Given the description of an element on the screen output the (x, y) to click on. 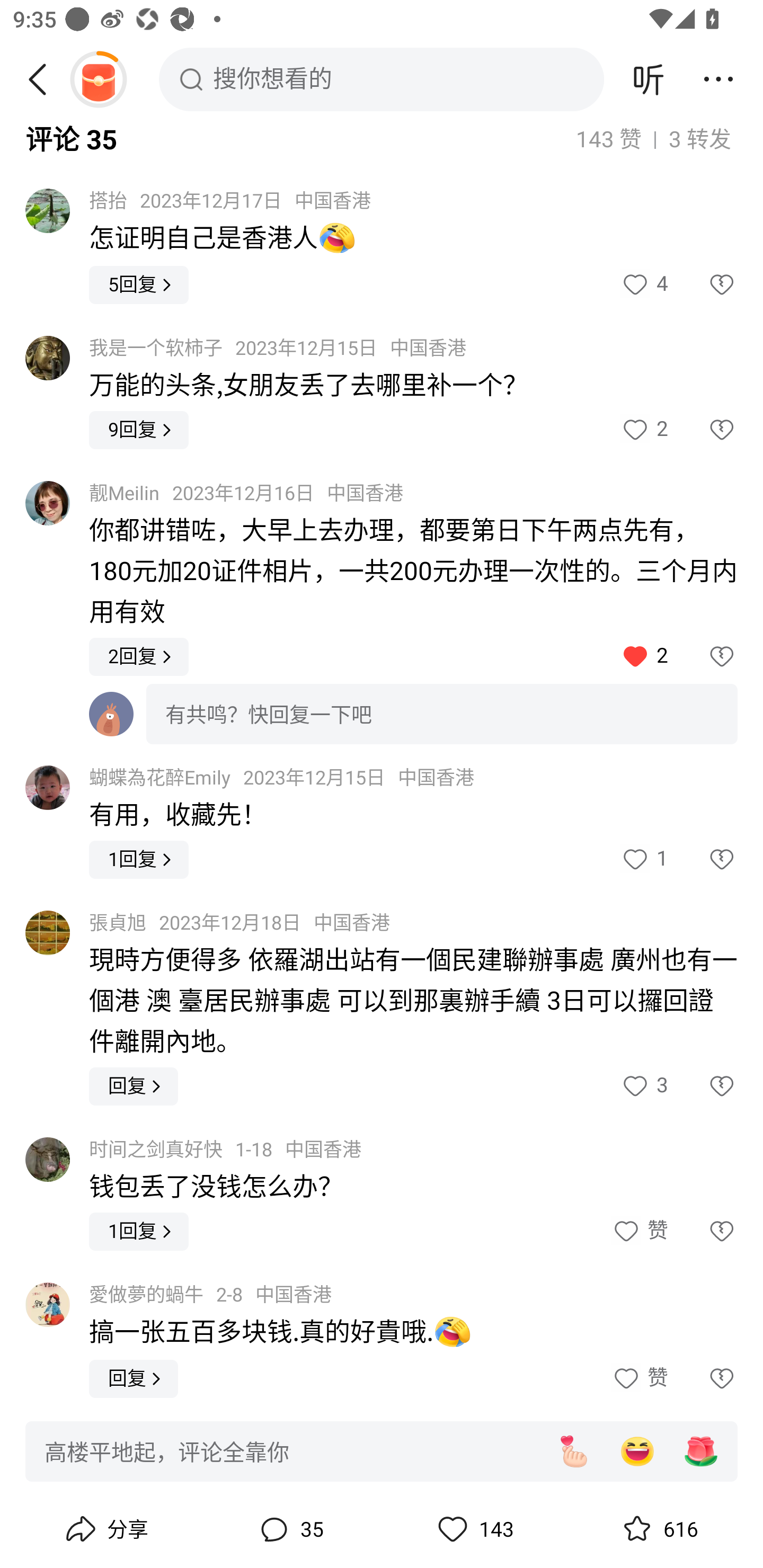
返回 (44, 78)
听头条 (648, 78)
更多操作 (718, 78)
搜你想看的 搜索框，搜你想看的 (381, 79)
阅读赚金币 (98, 79)
搭抬 2023年12月17日 中国香港 (229, 200)
5回复 (138, 285)
赞4 赞 (643, 285)
踩 (702, 285)
我是一个软柿子 2023年12月15日 中国香港 (277, 348)
9回复 (138, 429)
赞2 赞 (643, 429)
踩 (702, 429)
靓Meilin 2023年12月16日 中国香港 (245, 493)
2回复 (138, 656)
 赞2, 已赞 赞 (643, 656)
踩 (702, 656)
回复靓Meilin 有共鸣？快回复一下吧 (413, 712)
蝴蝶為花醉Emily 2023年12月15日 中国香港 (281, 777)
1回复 (138, 859)
赞1 赞 (643, 858)
踩 (702, 858)
張貞旭 2023年12月18日 中国香港 (239, 923)
回复 (133, 1086)
赞3 赞 (643, 1086)
踩 (702, 1086)
时间之剑真好快 1-18 中国香港 (225, 1149)
1回复 (138, 1231)
赞 (638, 1231)
踩 (702, 1231)
愛做夢的蝸牛 2-8 中国香港 (210, 1295)
回复 (133, 1378)
赞 (638, 1378)
踩 (702, 1378)
[比心] (573, 1451)
[大笑] (636, 1451)
[玫瑰] (700, 1451)
分享 (104, 1529)
评论,35 35 (288, 1529)
收藏,616 616 (658, 1529)
